Given the description of an element on the screen output the (x, y) to click on. 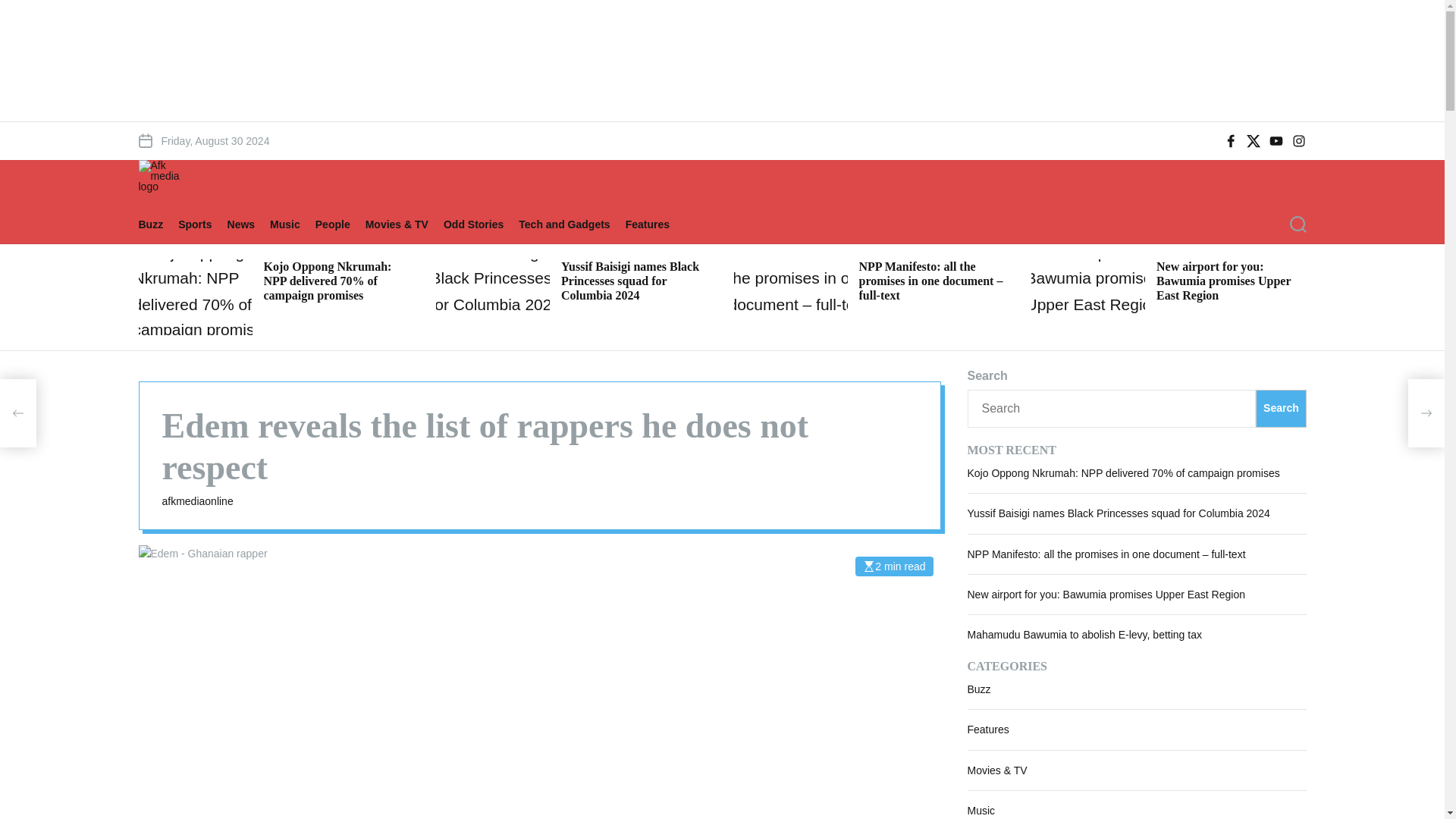
Features (655, 224)
Odd Stories (481, 224)
Tech and Gadgets (571, 224)
Facebook (1230, 140)
News (248, 224)
Sports (202, 224)
People (340, 224)
Buzz (157, 224)
Music (292, 224)
Youtube (1275, 140)
